Given the description of an element on the screen output the (x, y) to click on. 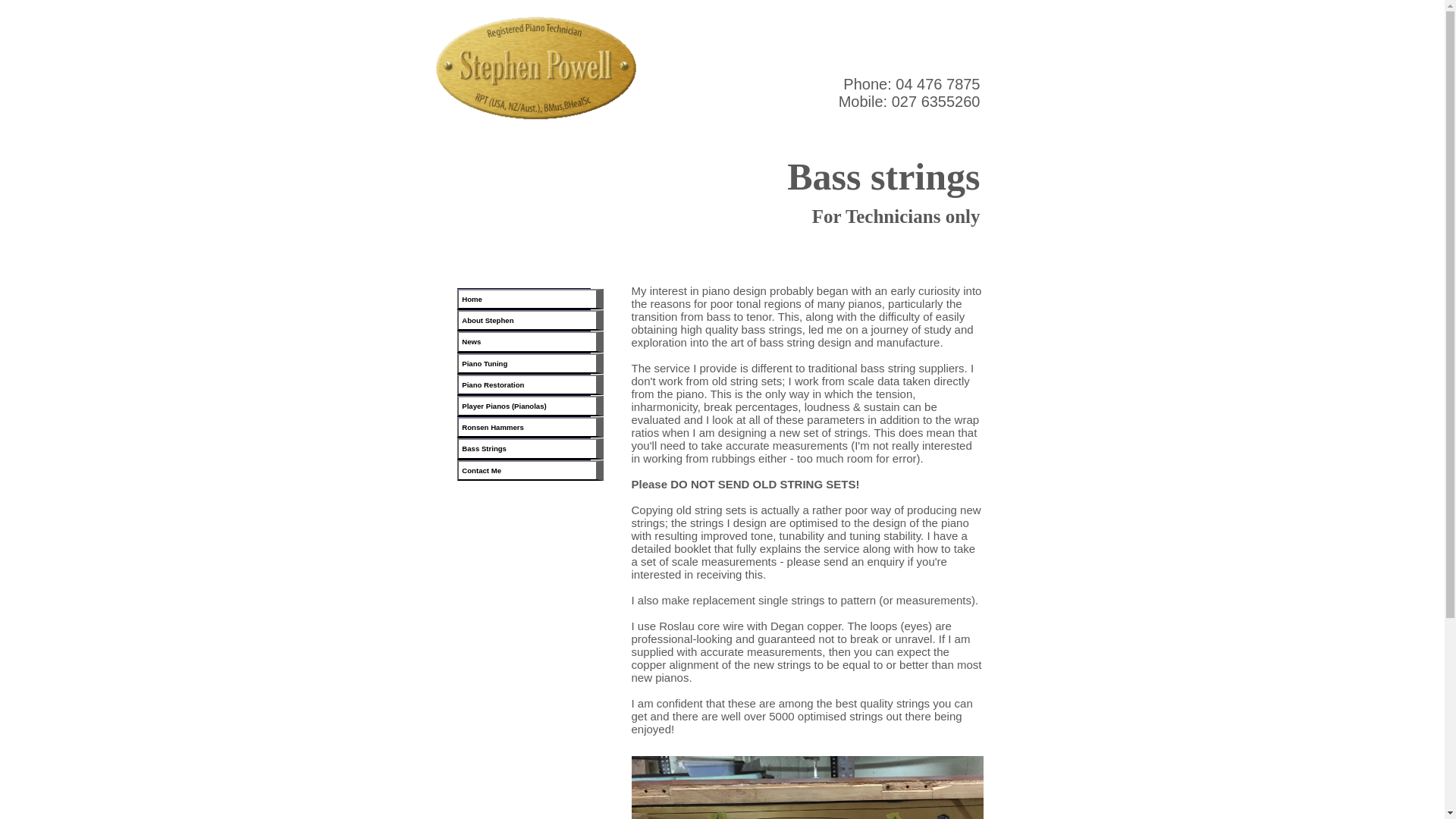
Contact Me (530, 469)
Ronsen Hammers (530, 426)
Mobile: 027 6355260 (908, 101)
News (530, 341)
Phone: 04 476 7875 (911, 84)
Home (530, 299)
About Stephen (530, 320)
Bass Strings (530, 448)
Piano Tuning (530, 362)
Piano Restoration (530, 384)
